Given the description of an element on the screen output the (x, y) to click on. 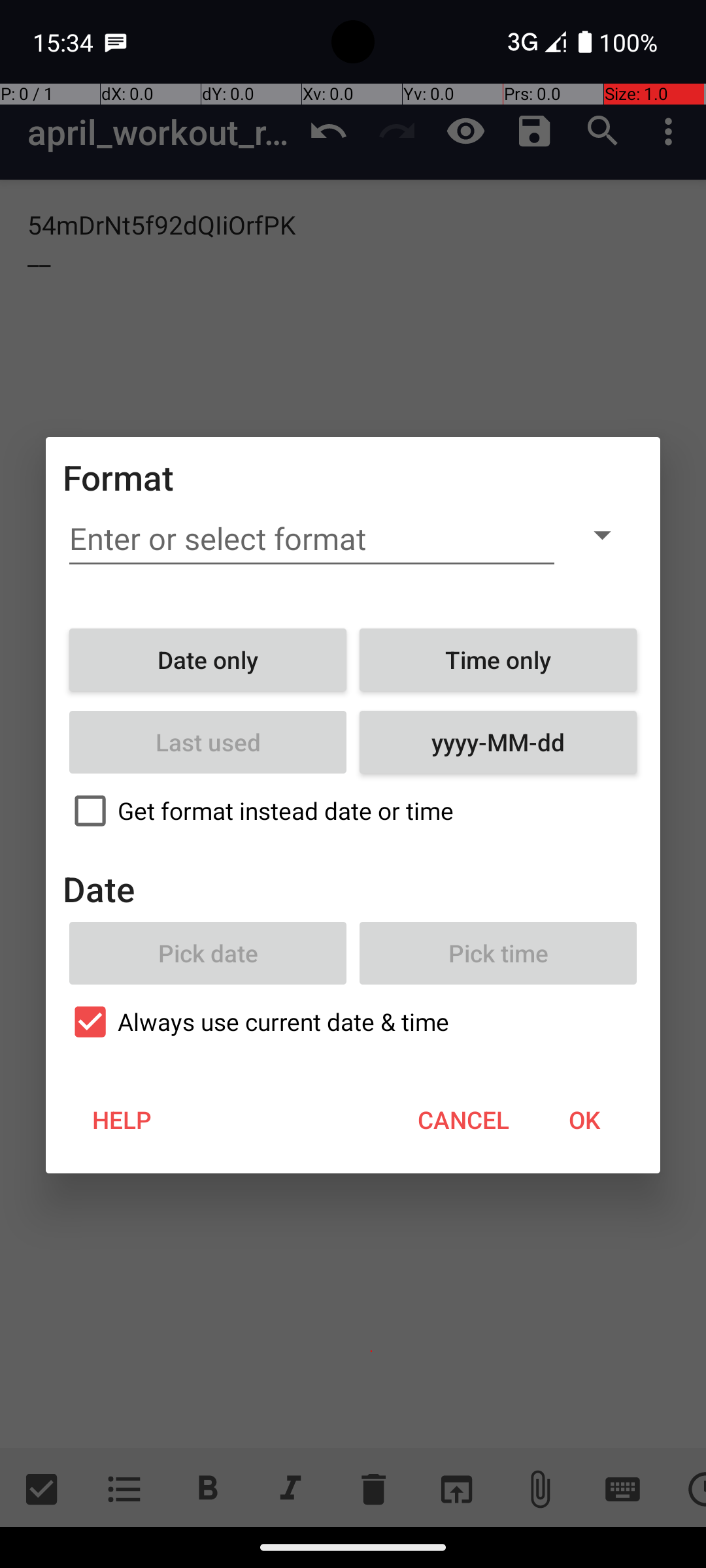
Format Element type: android.widget.TextView (118, 477)
Enter or select format Element type: android.widget.EditText (311, 538)
Choose format Element type: android.widget.TextView (601, 534)
Date only Element type: android.widget.Button (207, 659)
Time only Element type: android.widget.Button (498, 659)
Last used Element type: android.widget.Button (207, 742)
yyyy-MM-dd Element type: android.widget.Button (498, 742)
Get format instead date or time Element type: android.widget.CheckBox (352, 810)
Pick date Element type: android.widget.Button (207, 953)
Pick time Element type: android.widget.Button (498, 953)
Always use current date & time Element type: android.widget.CheckBox (352, 1021)
HELP Element type: android.widget.Button (121, 1119)
